Given the description of an element on the screen output the (x, y) to click on. 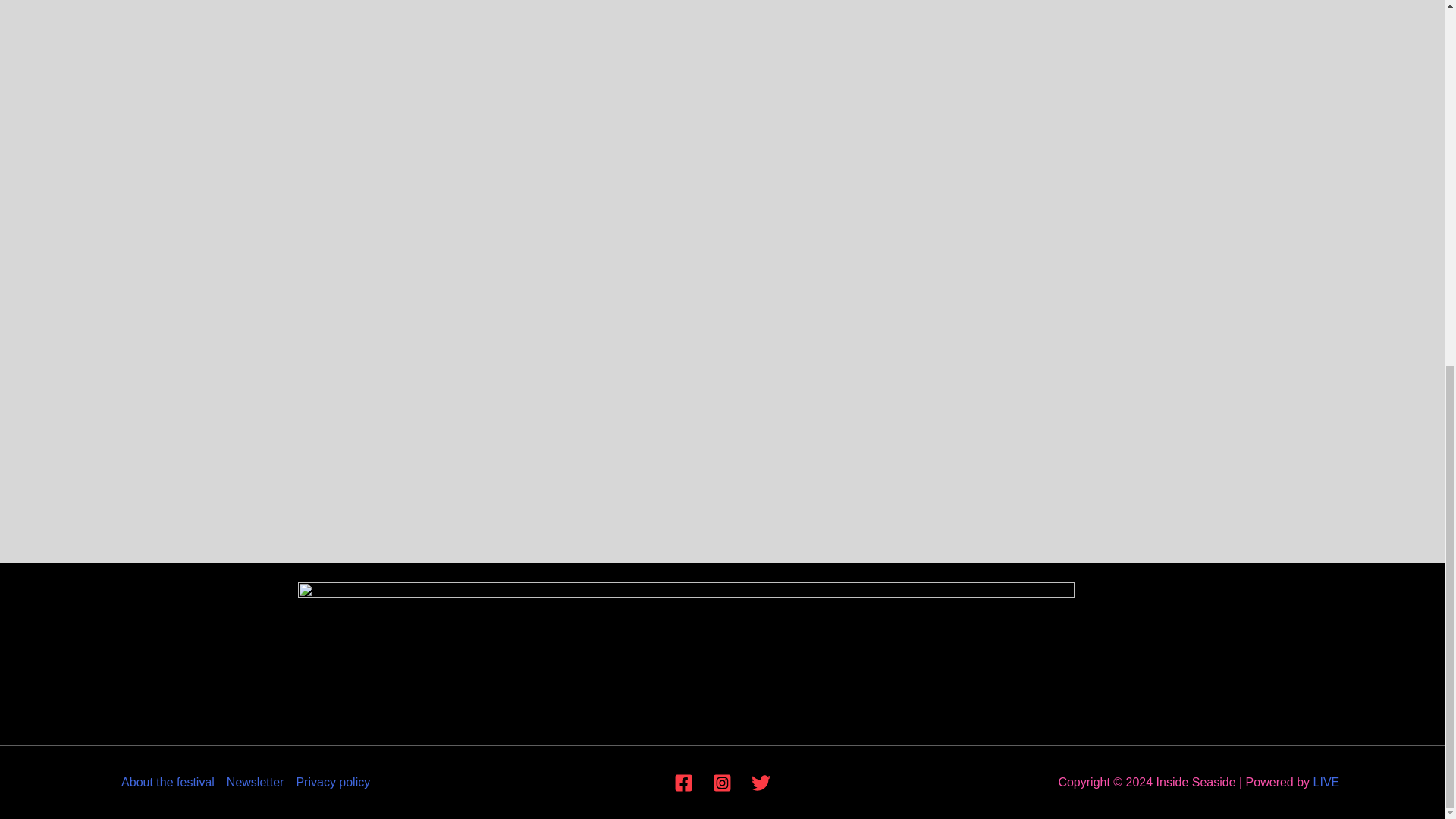
LIVE (1326, 781)
Newsletter (255, 782)
About the festival (170, 782)
Privacy policy (329, 782)
